Given the description of an element on the screen output the (x, y) to click on. 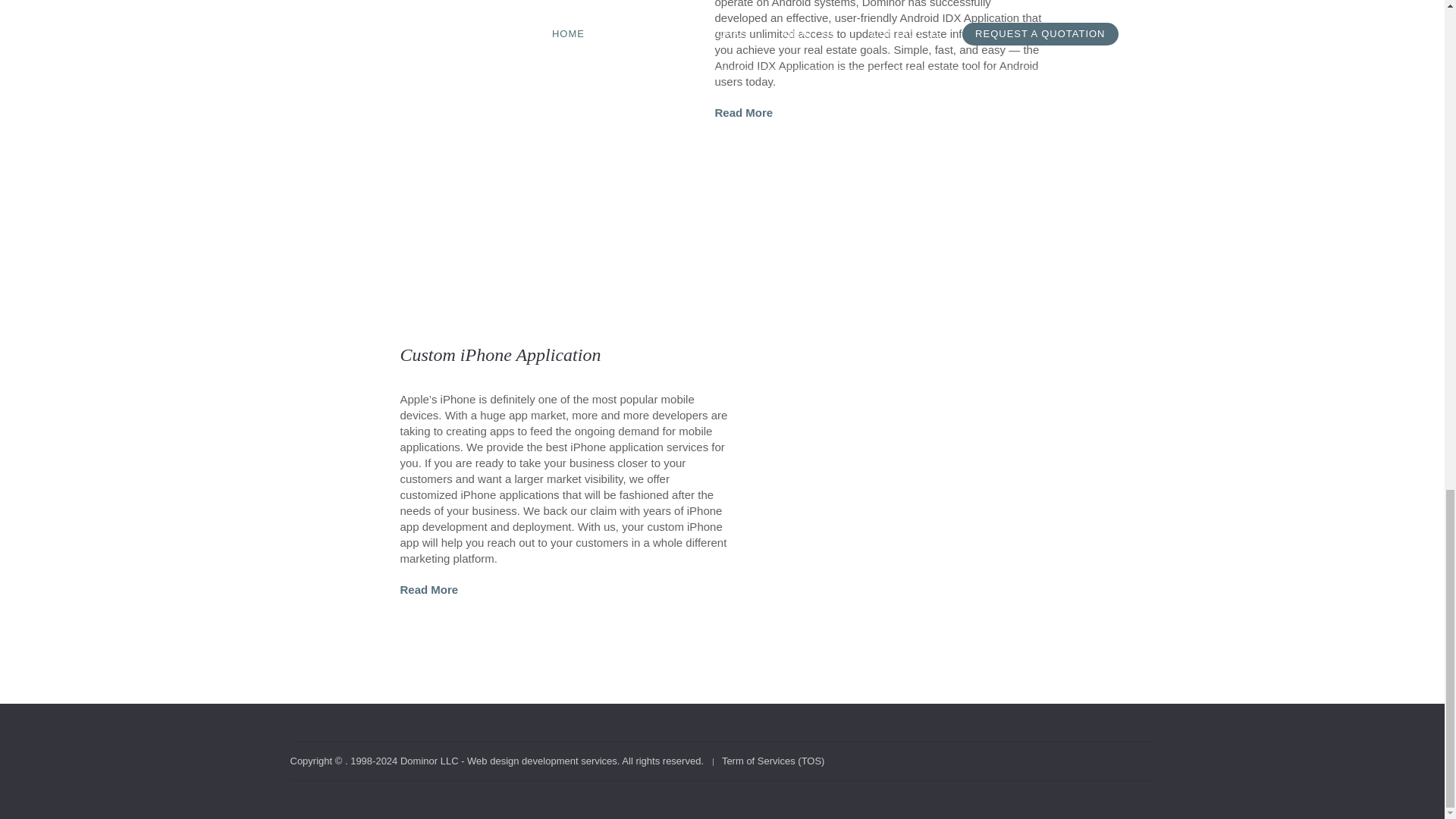
Read More (429, 589)
Read More (743, 112)
